Given the description of an element on the screen output the (x, y) to click on. 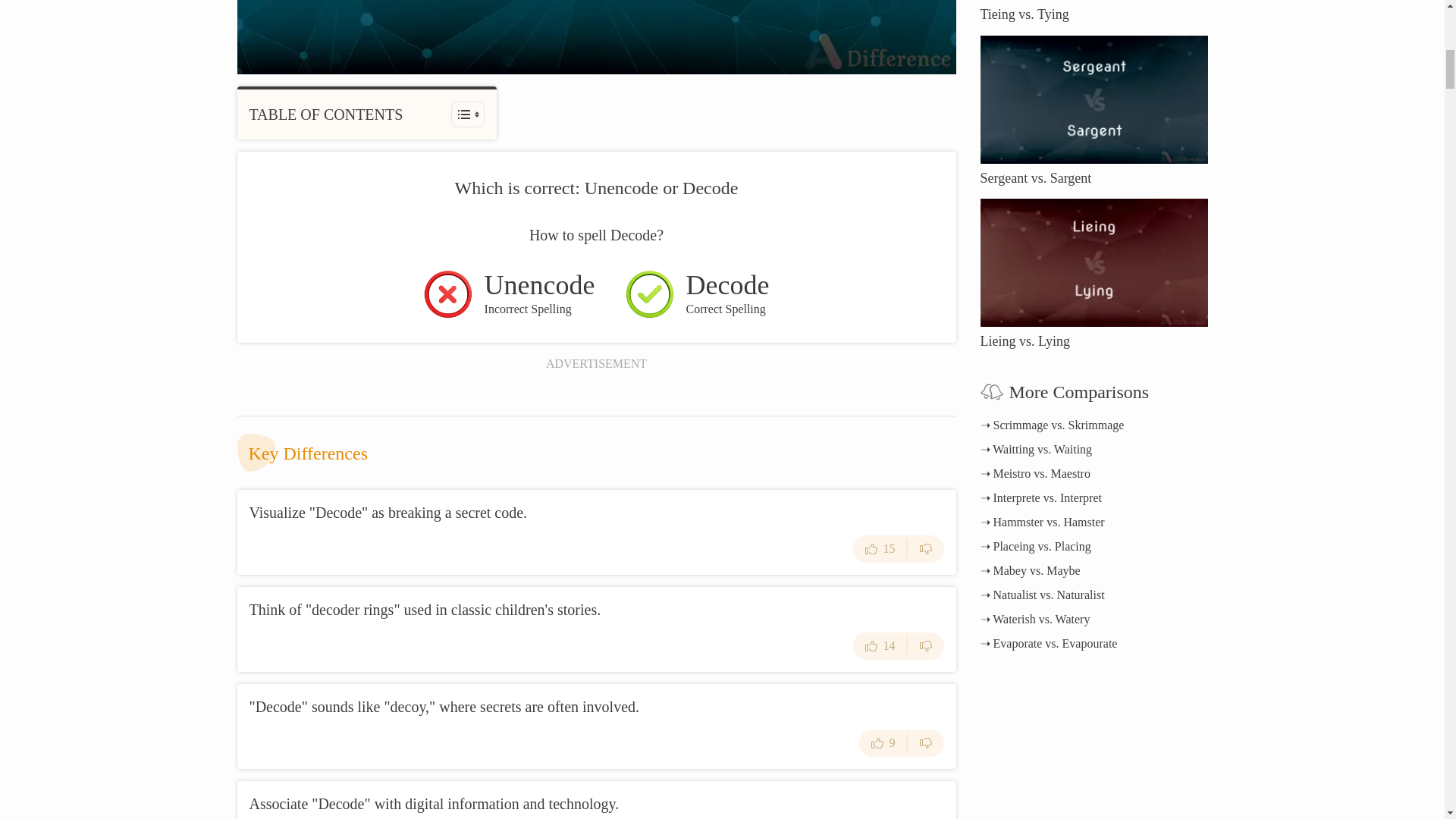
14 (879, 646)
9 (883, 742)
15 (879, 548)
